Given the description of an element on the screen output the (x, y) to click on. 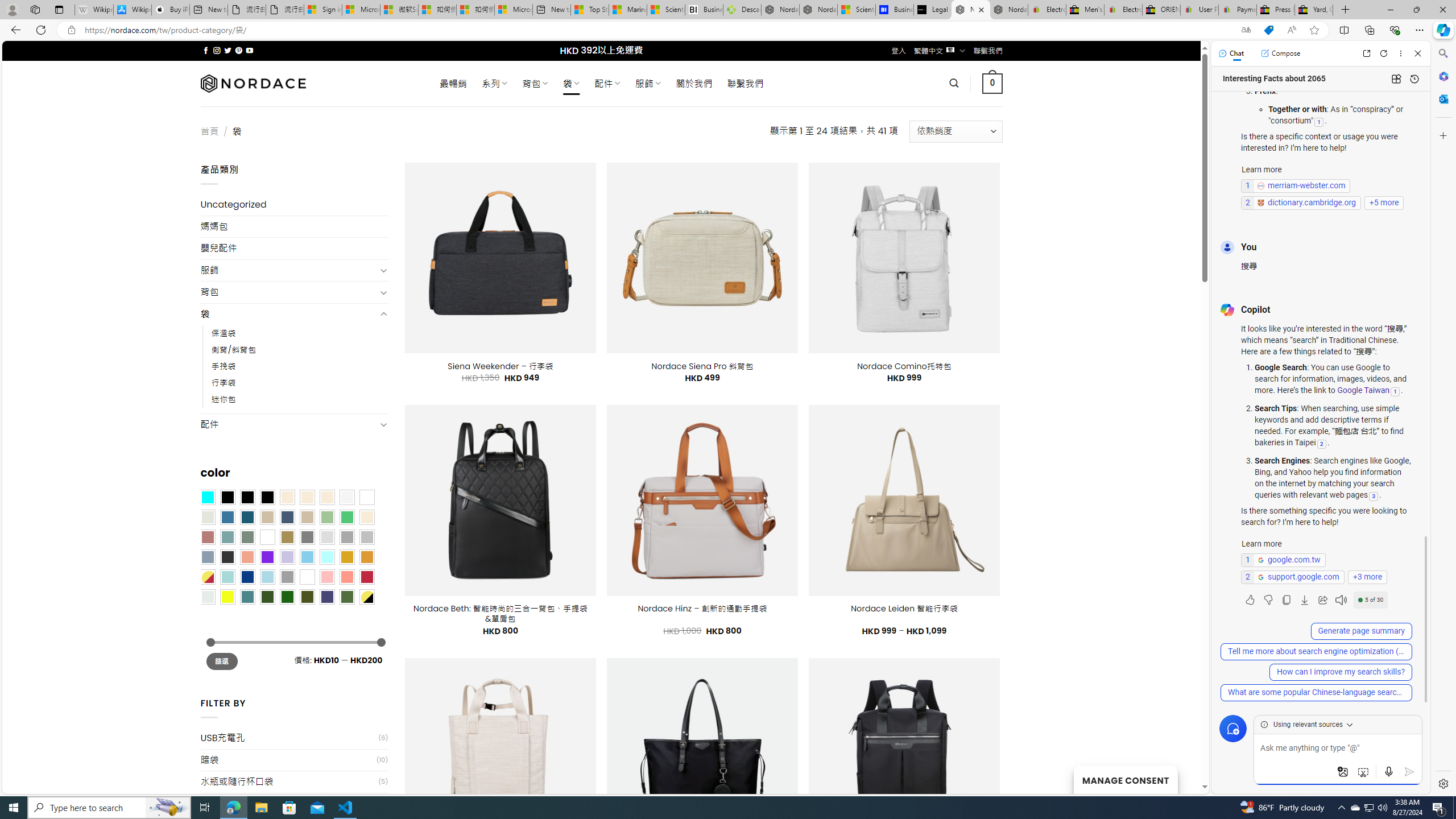
Uncategorized (294, 204)
This site has coupons! Shopping in Microsoft Edge (1268, 29)
Descarga Driver Updater (741, 9)
